Given the description of an element on the screen output the (x, y) to click on. 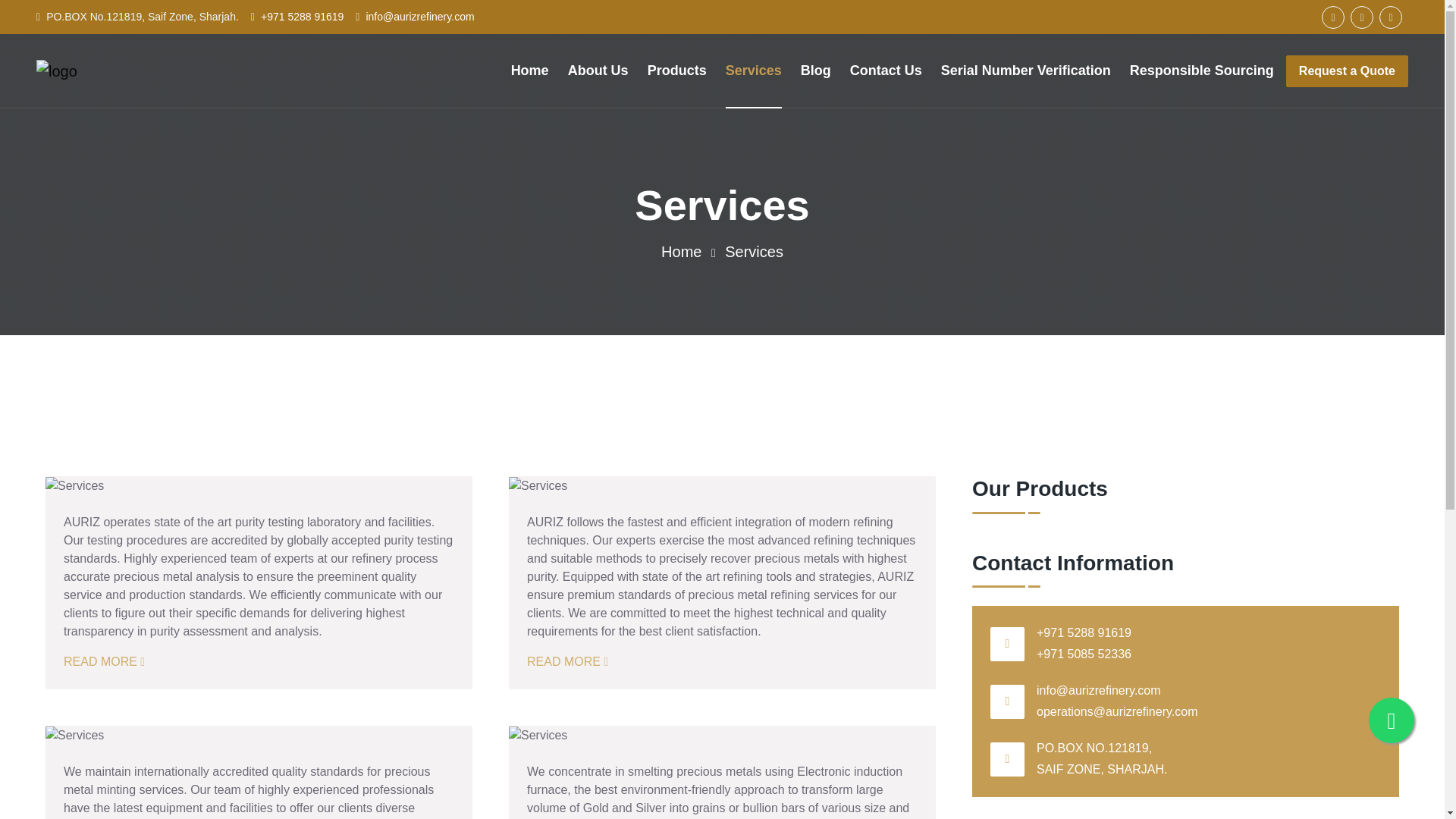
READ MORE (104, 661)
Services (754, 251)
READ MORE (567, 661)
Home (681, 251)
Contact Us (885, 70)
Request a Quote (1346, 70)
Serial Number Verification (1025, 70)
Responsible Sourcing (1201, 70)
